Given the description of an element on the screen output the (x, y) to click on. 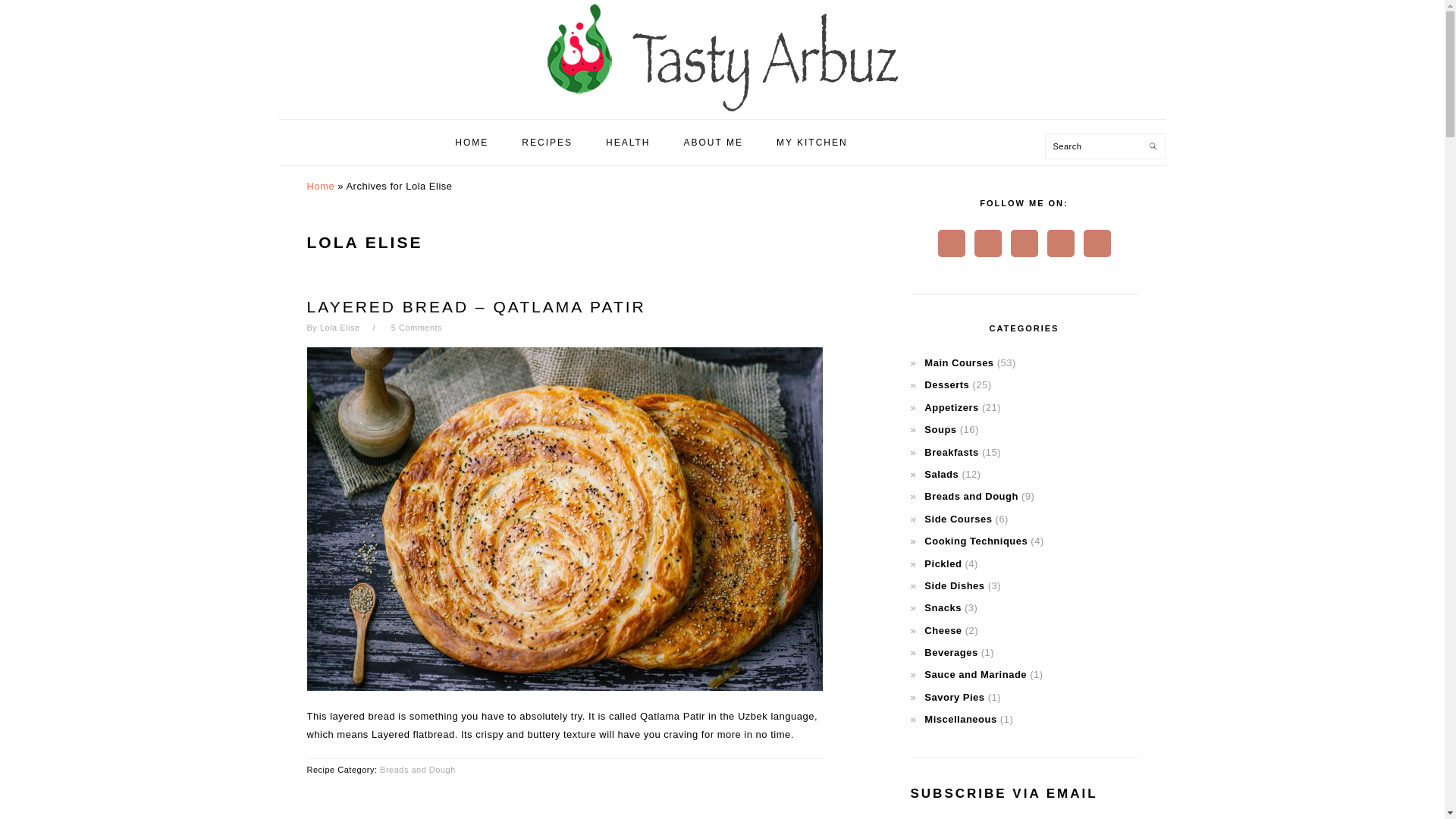
5 Comments (416, 327)
Tasty Arbuz (721, 56)
HEALTH (627, 142)
HOME (471, 142)
Default category (959, 718)
ABOUT ME (712, 142)
Home (319, 185)
Tasty Arbuz (721, 103)
RECIPES (546, 142)
MY KITCHEN (811, 142)
Breads and Dough (417, 768)
Lola Elise (339, 327)
